Given the description of an element on the screen output the (x, y) to click on. 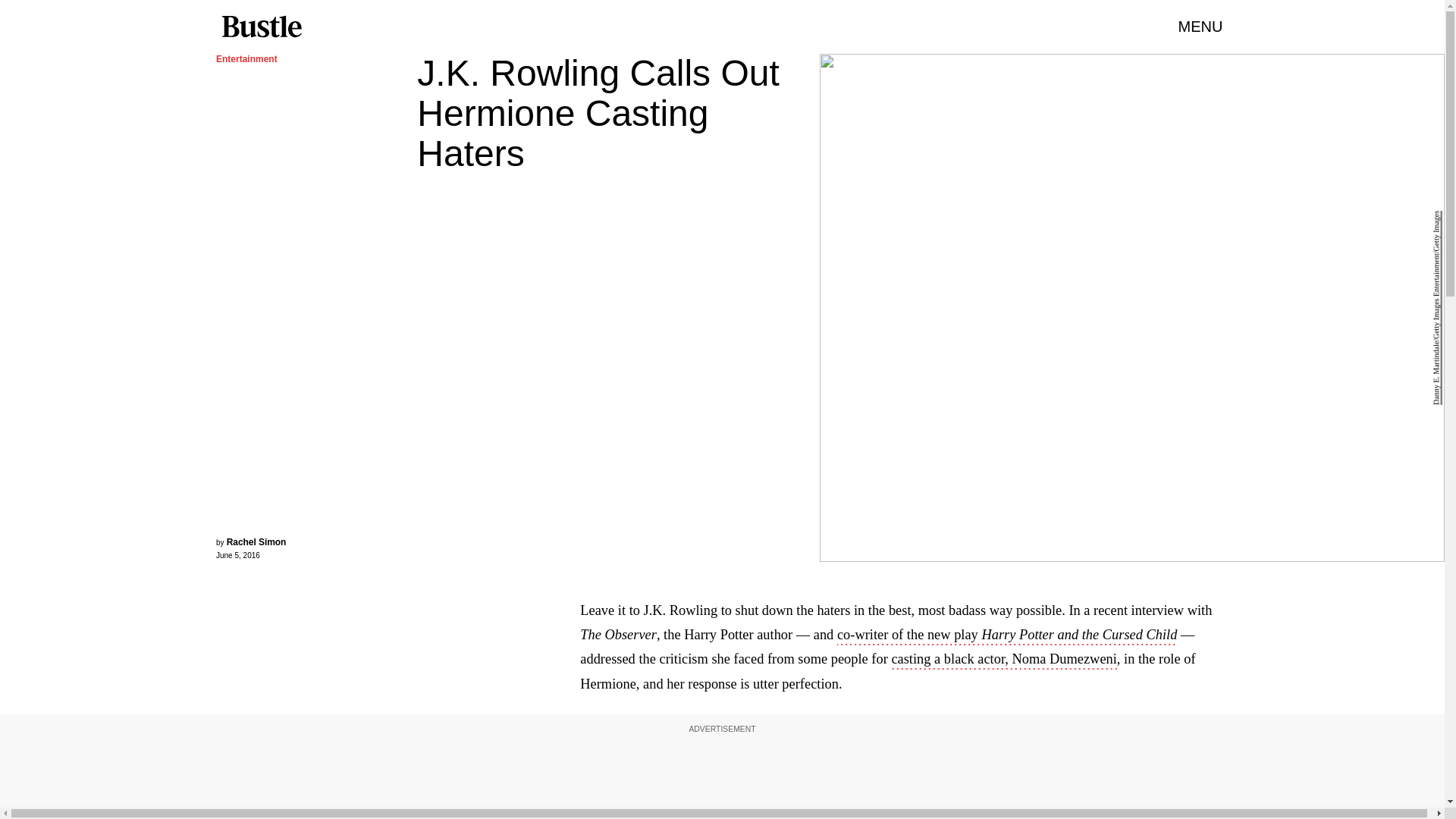
Bustle (261, 26)
casting a black actor, Noma Dumezweni (1003, 660)
co-writer of the new play Harry Potter and the Cursed Child (1006, 636)
